Given the description of an element on the screen output the (x, y) to click on. 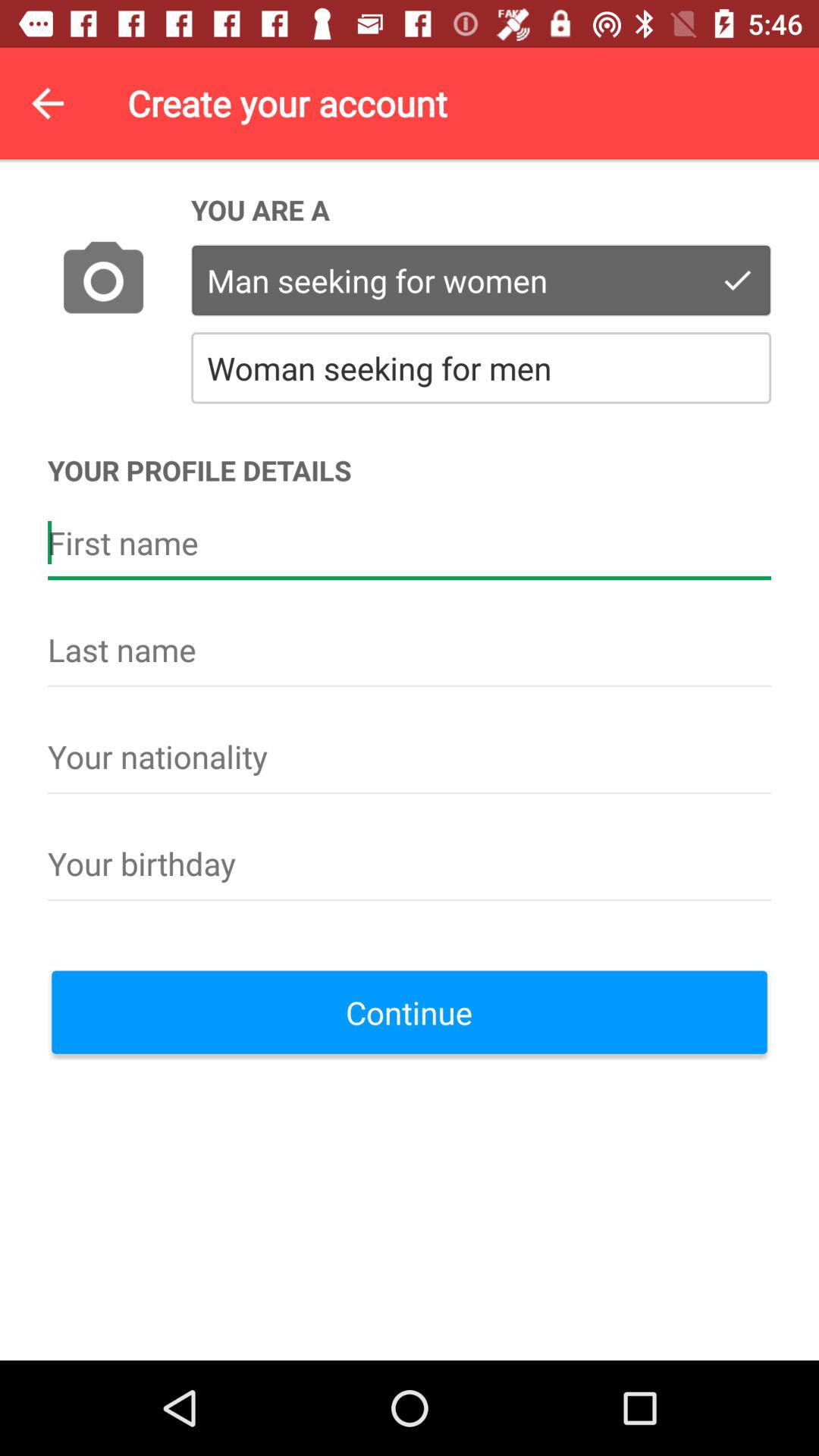
turn off icon next to you are a app (103, 281)
